Given the description of an element on the screen output the (x, y) to click on. 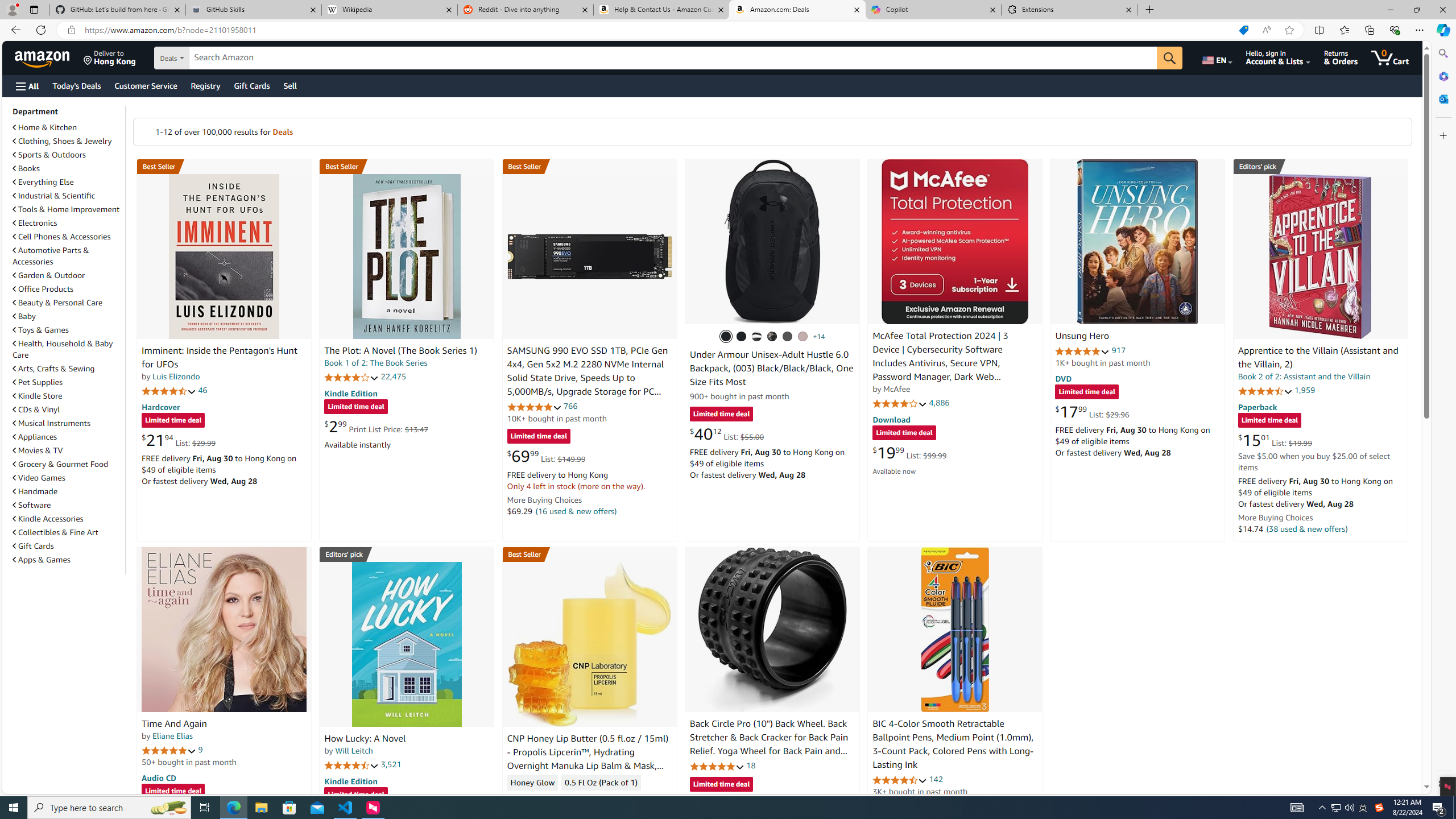
Microsoft 365 (1442, 76)
Apps & Games (67, 559)
Unsung Hero (1137, 241)
Read aloud this page (Ctrl+Shift+U) (1266, 29)
Editors' pick Best Science Fiction & Fantasy (1320, 165)
Choose a language for shopping. (1216, 57)
Toys & Games (67, 329)
Hardcover (160, 406)
Browser essentials (1394, 29)
Go (1169, 57)
Side bar (1443, 418)
Health, Household & Baby Care (67, 348)
142 (935, 778)
